Given the description of an element on the screen output the (x, y) to click on. 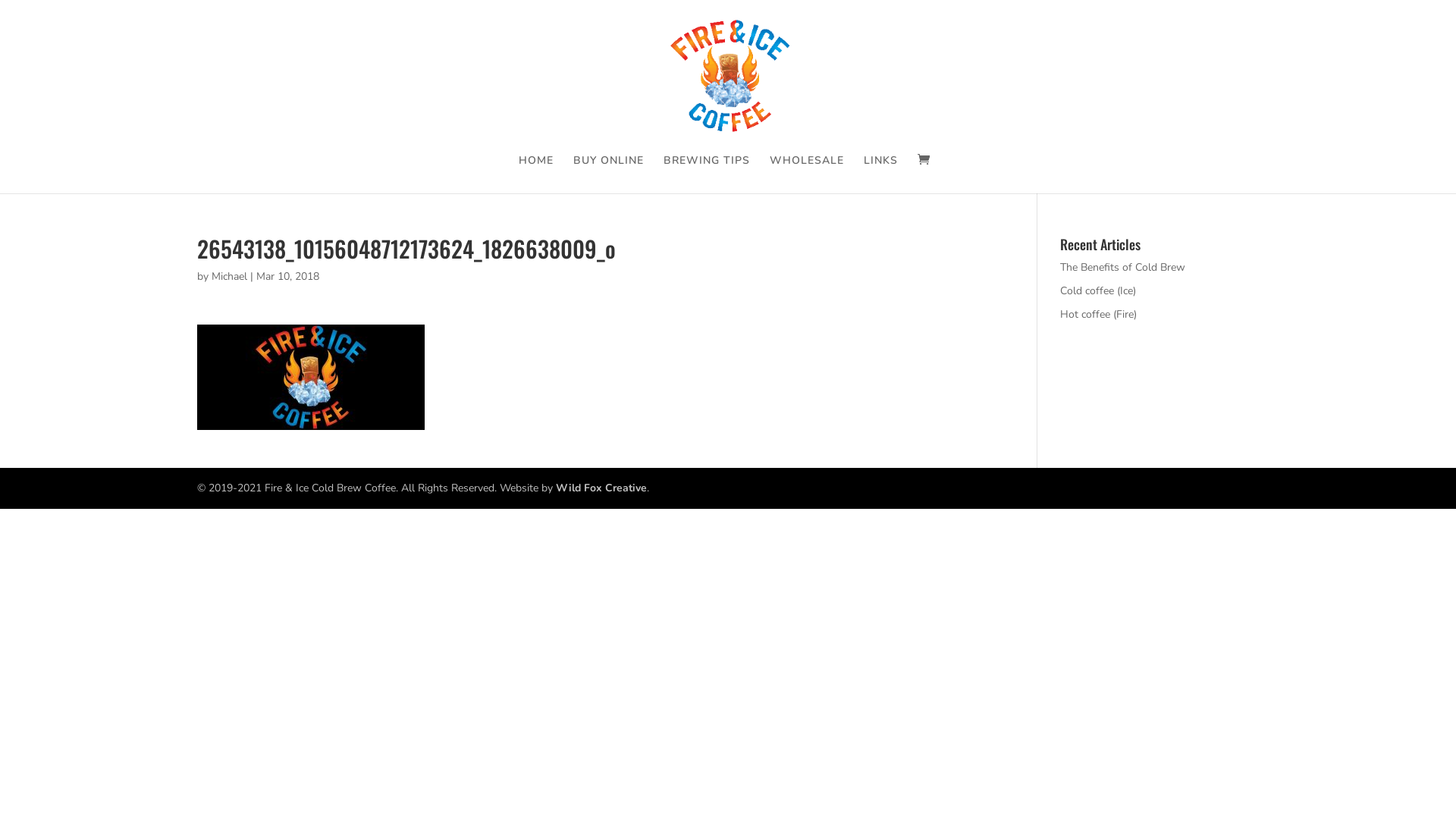
WHOLESALE Element type: text (806, 174)
Michael Element type: text (229, 276)
Wild Fox Creative Element type: text (600, 487)
BREWING TIPS Element type: text (706, 174)
Cold coffee (Ice) Element type: text (1097, 290)
LINKS Element type: text (880, 174)
The Benefits of Cold Brew Element type: text (1122, 267)
BUY ONLINE Element type: text (608, 174)
HOME Element type: text (535, 174)
Hot coffee (Fire) Element type: text (1098, 314)
